Given the description of an element on the screen output the (x, y) to click on. 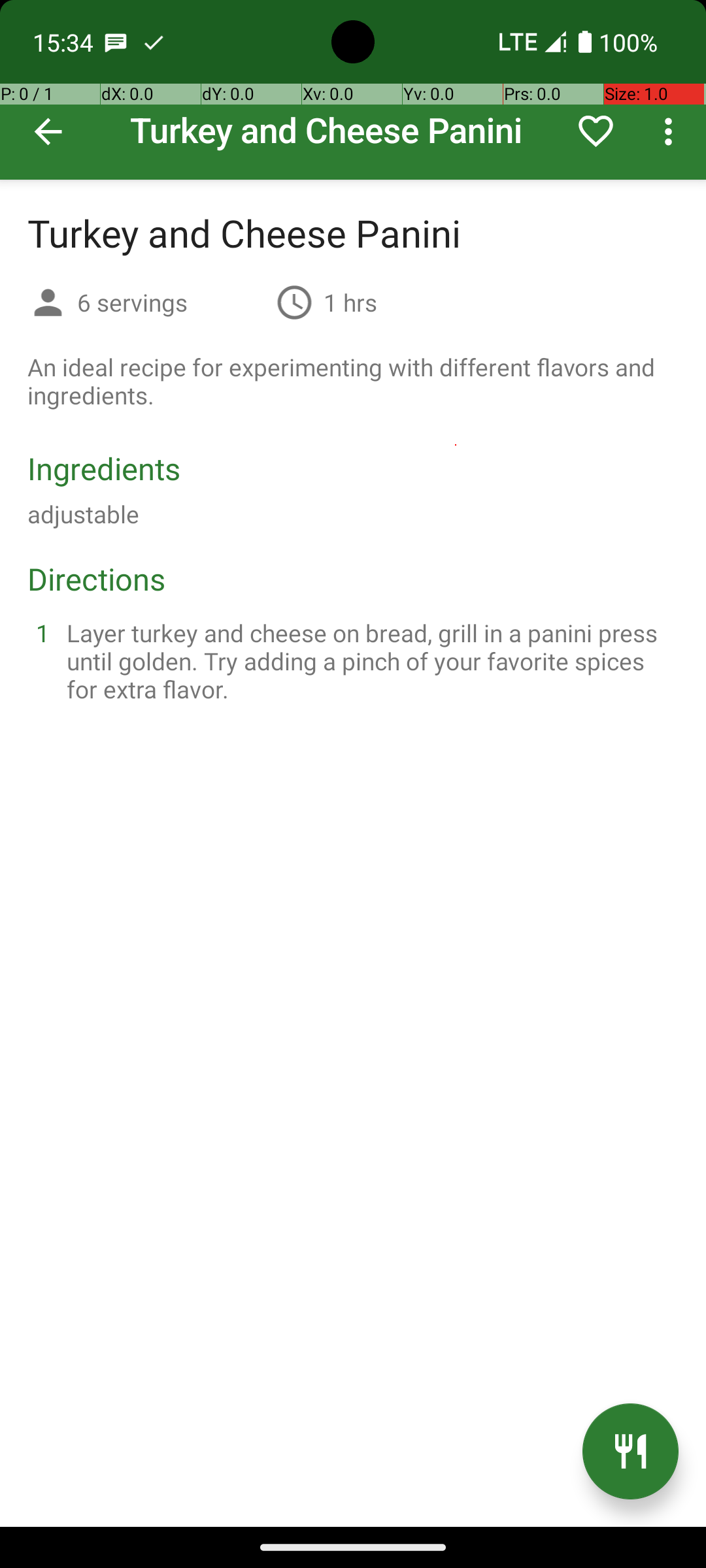
Turkey and Cheese Panini Element type: android.widget.FrameLayout (353, 89)
Layer turkey and cheese on bread, grill in a panini press until golden. Try adding a pinch of your favorite spices for extra flavor. Element type: android.widget.TextView (368, 660)
